Given the description of an element on the screen output the (x, y) to click on. 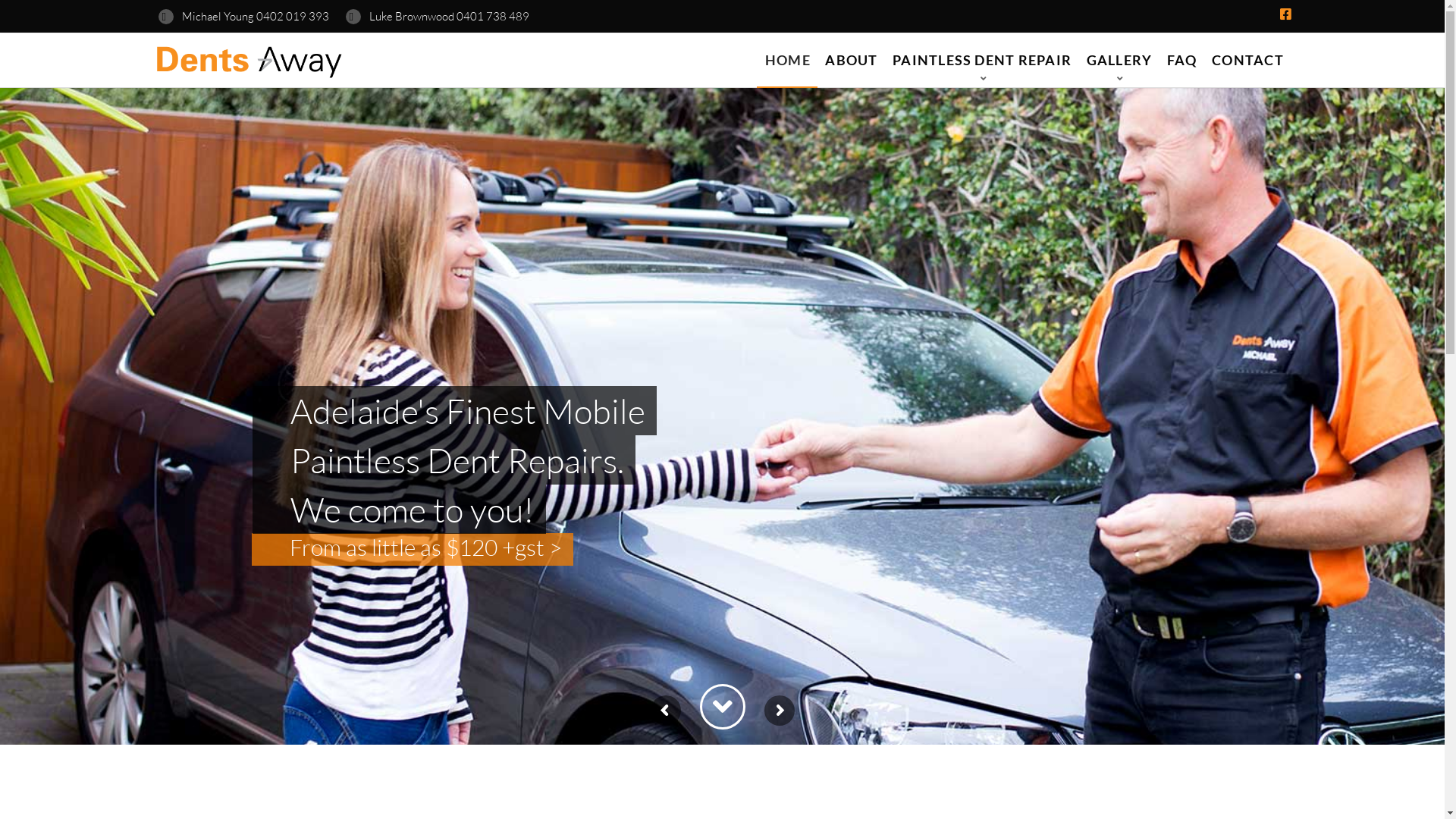
CONTACT Element type: text (1247, 59)
ABOUT Element type: text (850, 59)
PAINTLESS DENT REPAIR Element type: text (981, 59)
GALLERY Element type: text (1119, 59)
Luke Brownwood 0401 738 489 Element type: text (437, 16)
HOME Element type: text (787, 59)
FAQ Element type: text (1181, 59)
From as little as $120 +gst > Element type: text (425, 547)
Facebook Element type: hover (1285, 13)
Michael Young 0402 019 393 Element type: text (244, 16)
